Given the description of an element on the screen output the (x, y) to click on. 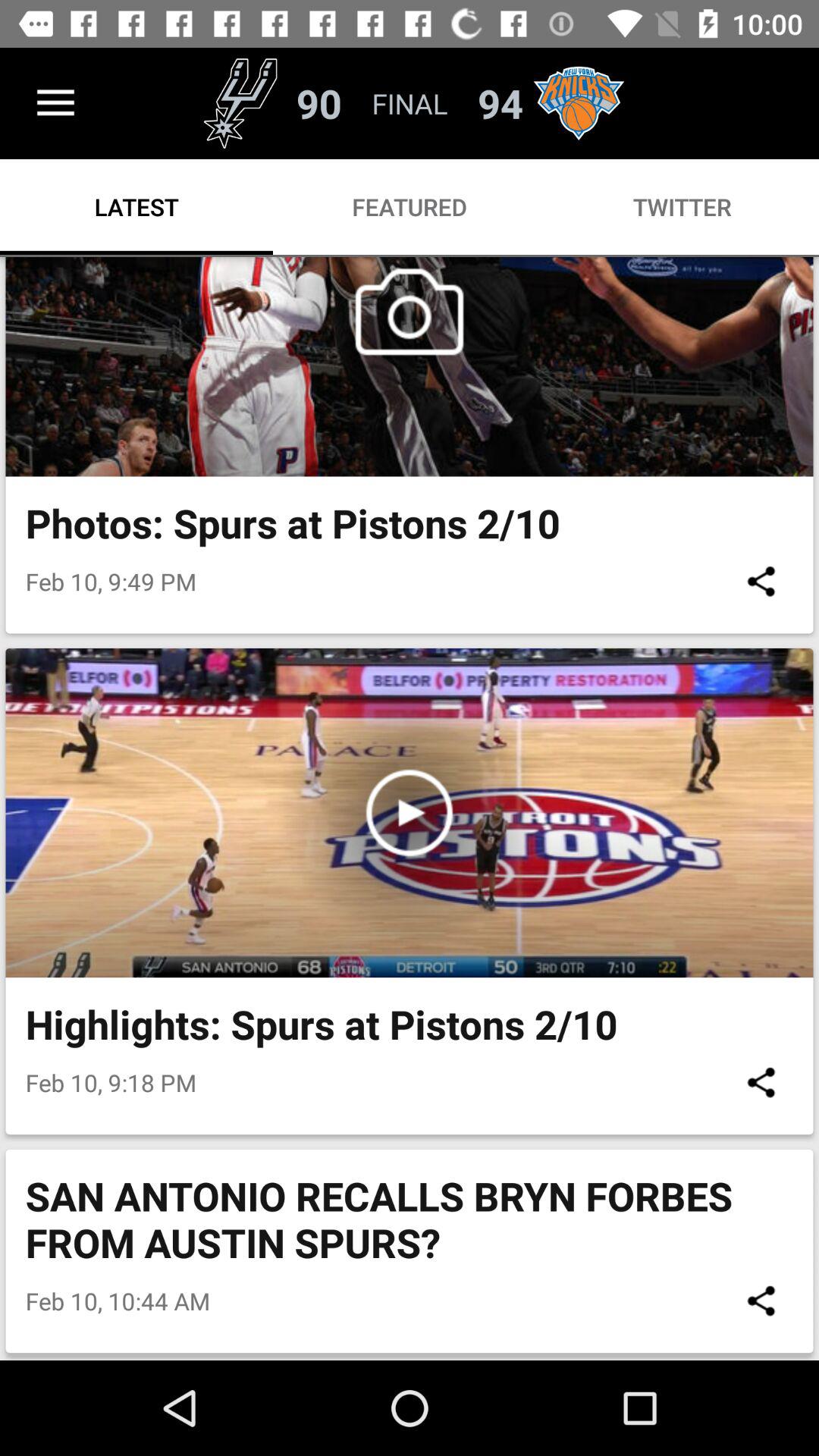
turn off the icon above the latest icon (55, 103)
